Given the description of an element on the screen output the (x, y) to click on. 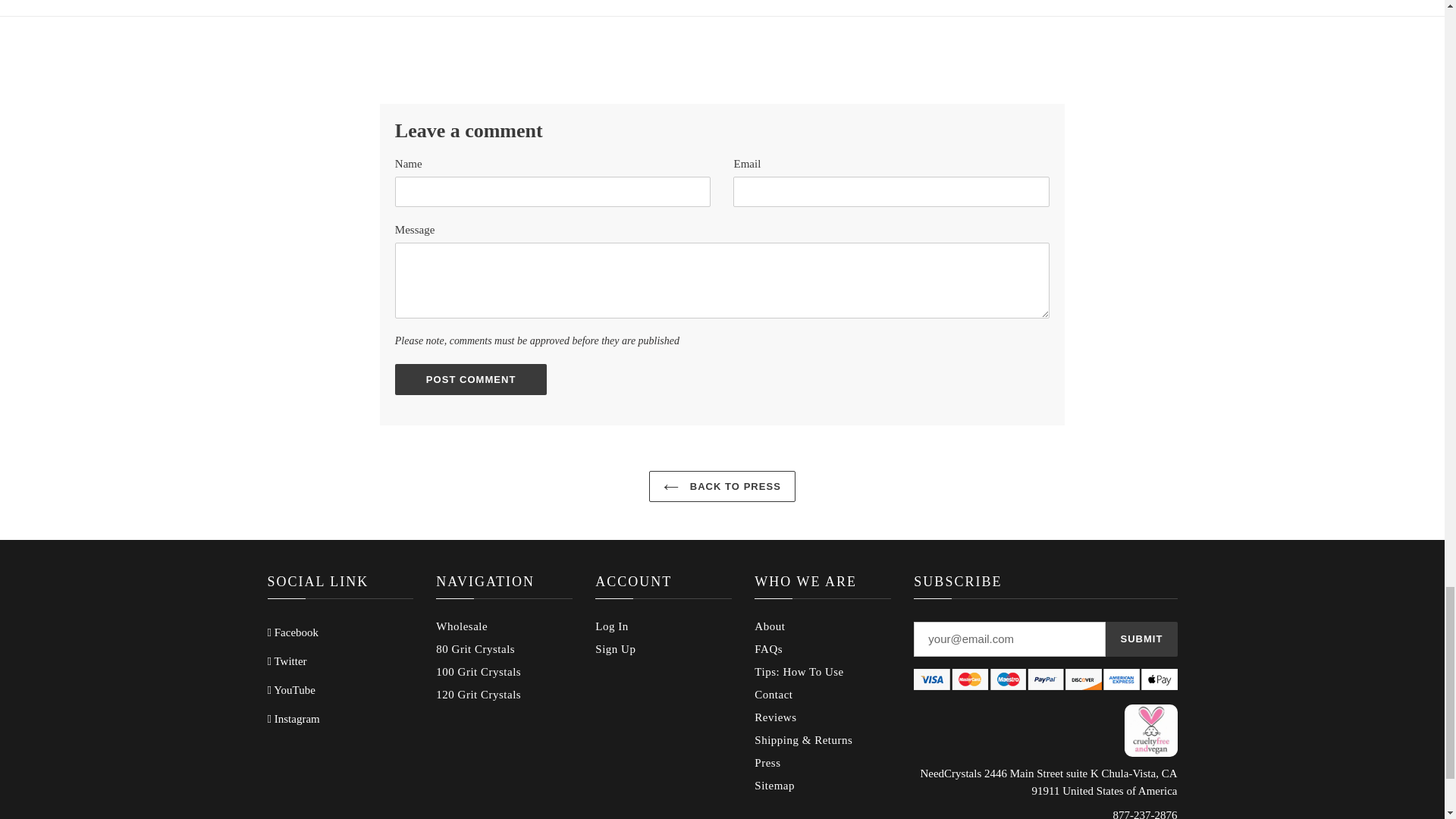
Twitter (285, 661)
needcrystals on YouTube (290, 689)
needcrystals on Instagram (292, 718)
Post comment (470, 379)
BACK TO PRESS (721, 486)
Facebook (292, 632)
Instagram (292, 718)
YouTube (290, 689)
needcrystals on Twitter (285, 661)
needcrystals on Facebook (292, 632)
Post comment (470, 379)
